Given the description of an element on the screen output the (x, y) to click on. 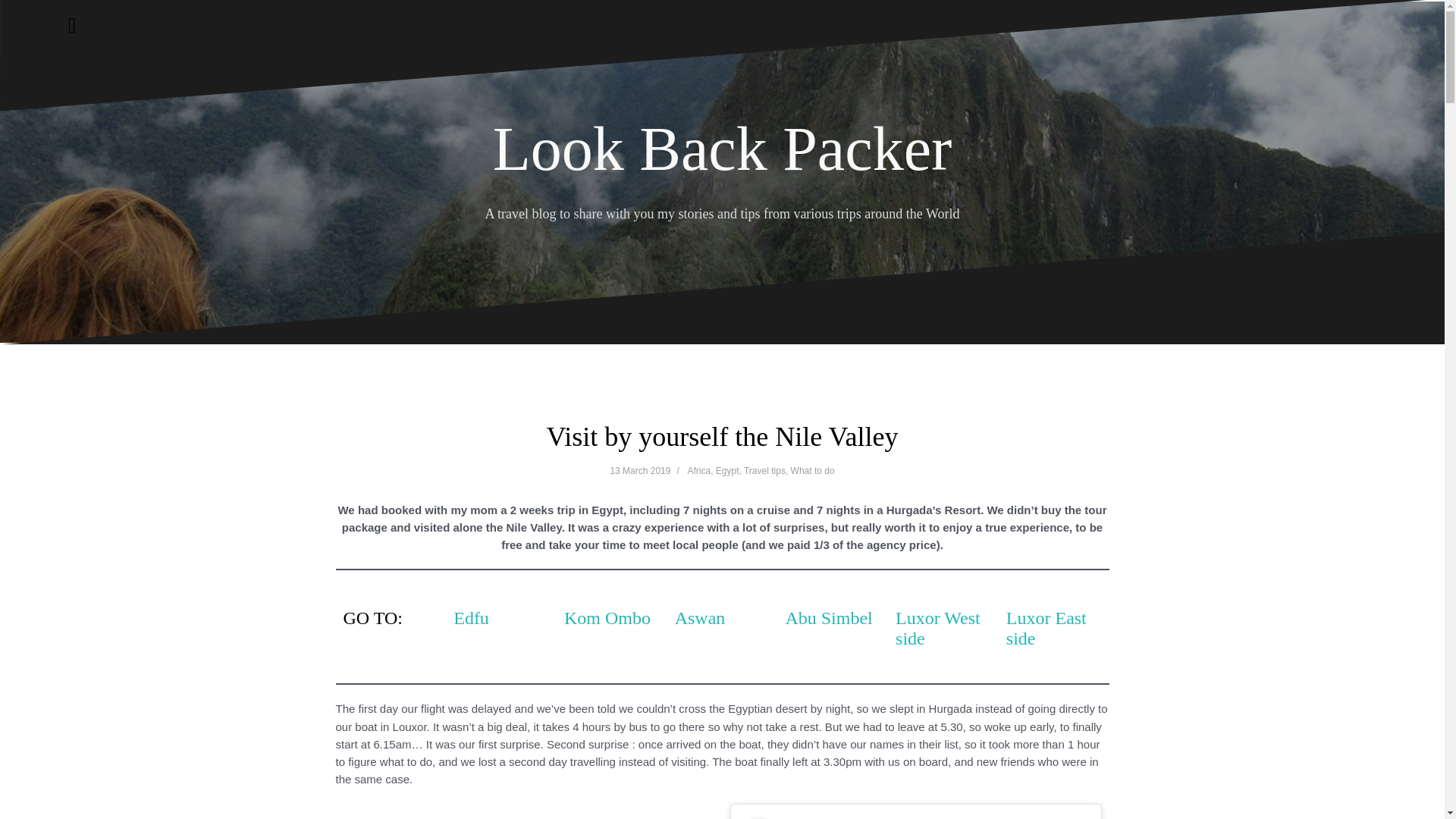
Luxor East side (1046, 627)
Egypt (727, 470)
Luxor West side (937, 627)
Aswan (700, 618)
What to do (812, 470)
13 March 2019 (639, 470)
Look Back Packer (722, 148)
Kom Ombo (607, 618)
Abu Simbel (828, 618)
